Given the description of an element on the screen output the (x, y) to click on. 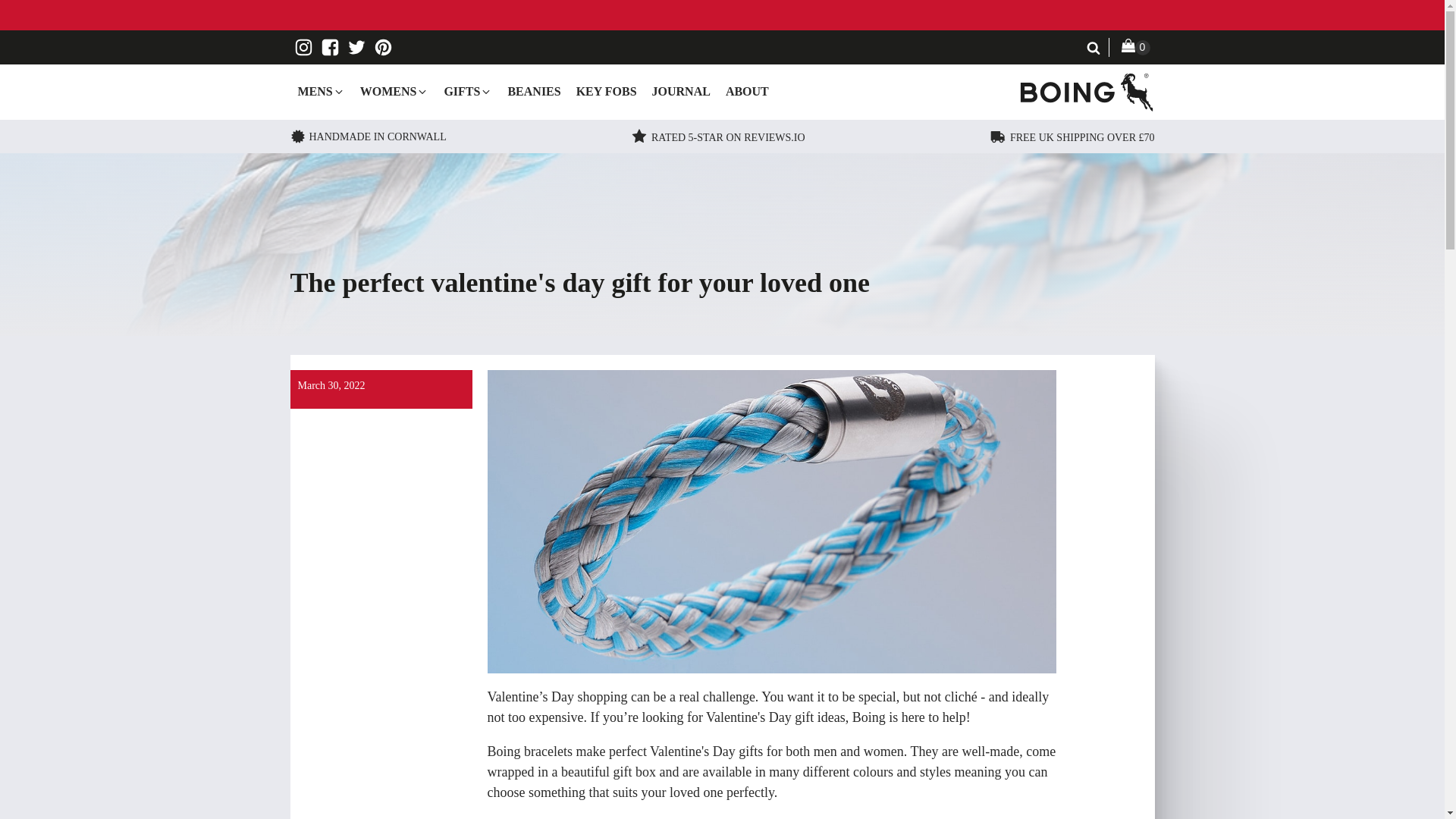
KEY FOBS (607, 91)
JOURNAL (681, 91)
Search (27, 10)
BEANIES (533, 91)
WOMENS (394, 91)
GIFTS (467, 91)
MENS (320, 91)
